Given the description of an element on the screen output the (x, y) to click on. 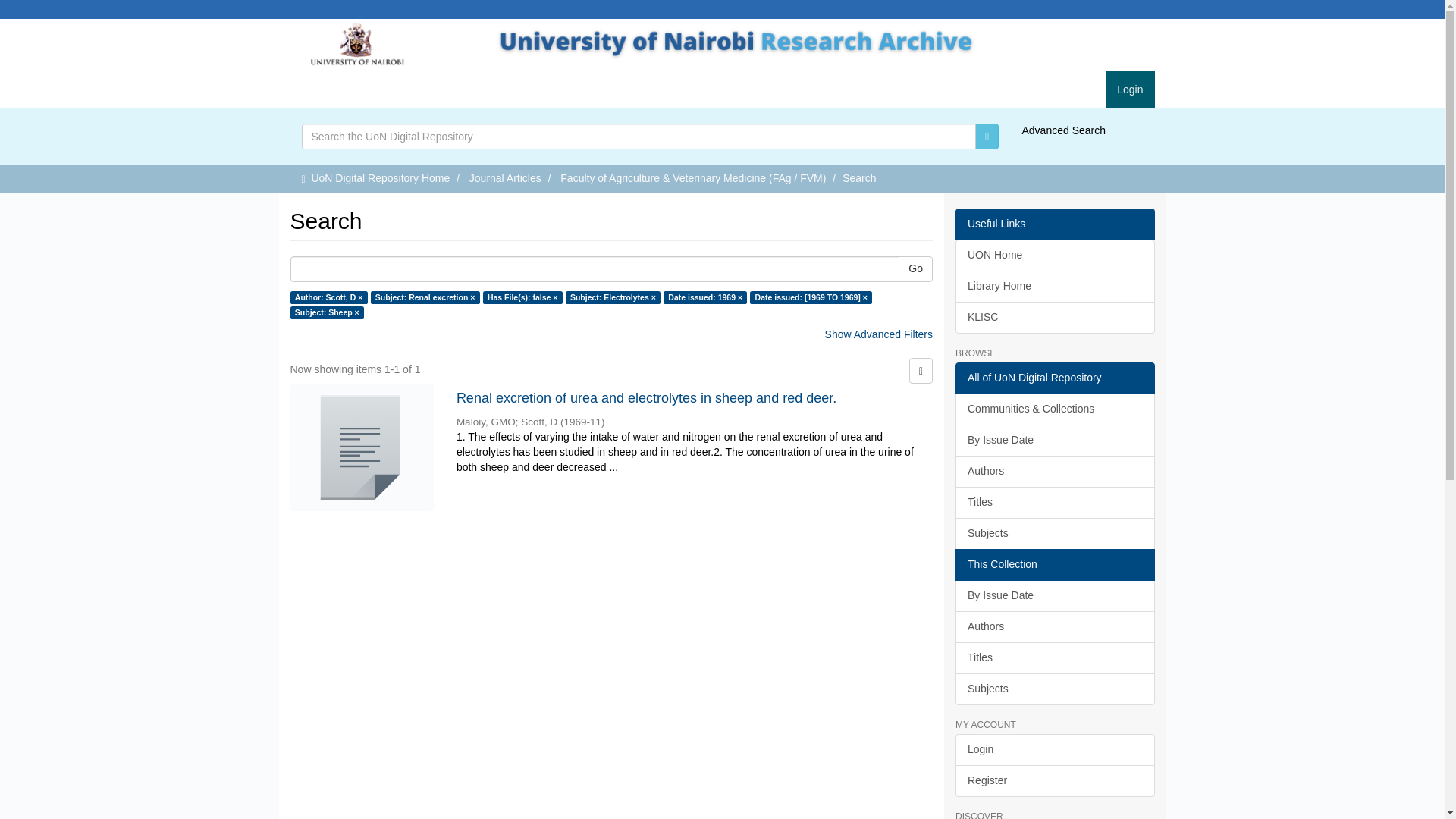
Advanced Search (1063, 130)
UoN Digital Repository Home (380, 177)
Go (915, 268)
Show Advanced Filters (879, 334)
Journal Articles (504, 177)
Go (986, 136)
Login (1129, 89)
